Given the description of an element on the screen output the (x, y) to click on. 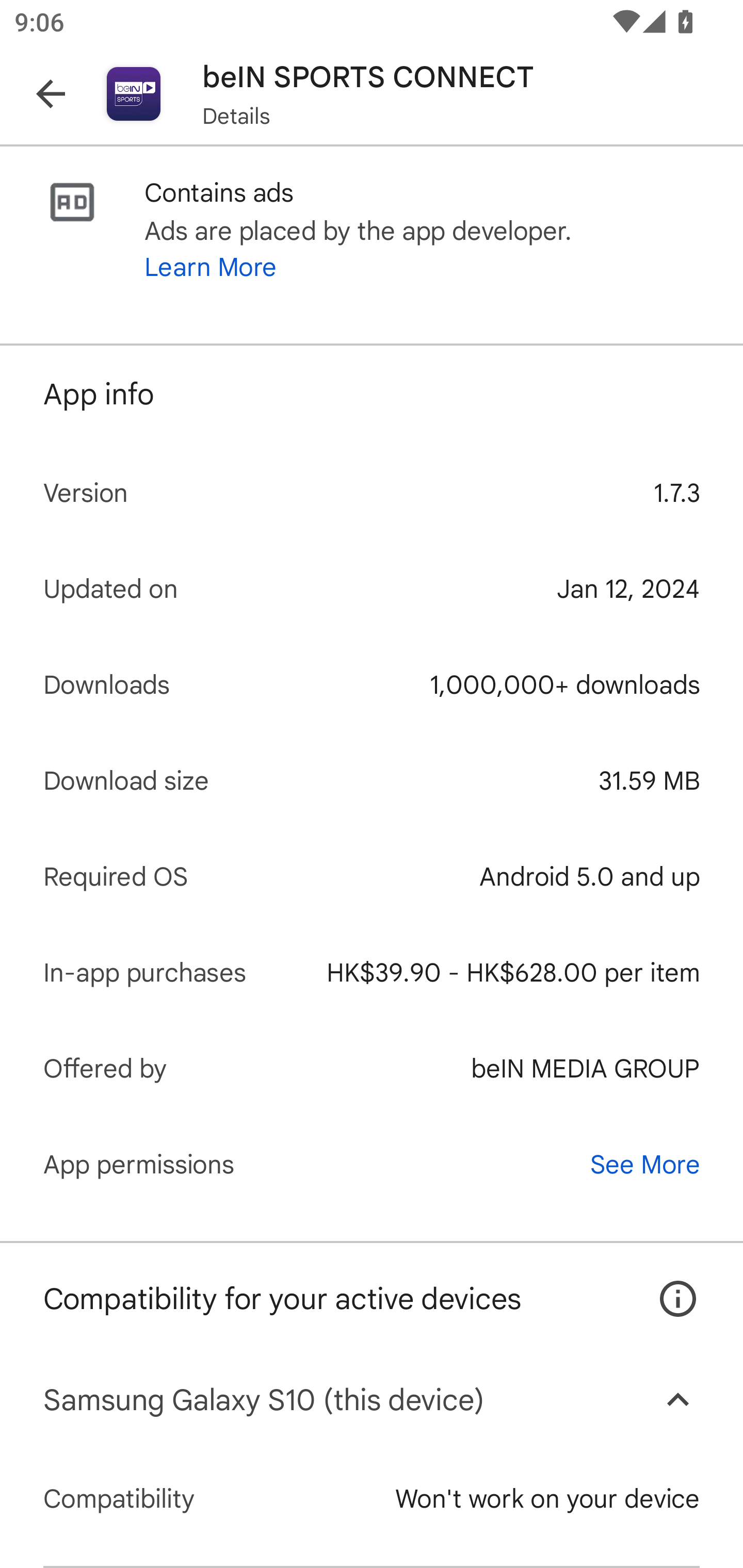
Navigate up (50, 93)
App permissions See More (371, 1164)
How this App works on your devices. (666, 1284)
Samsung Galaxy S10 (this device) Collapse (371, 1400)
Collapse (677, 1400)
